Given the description of an element on the screen output the (x, y) to click on. 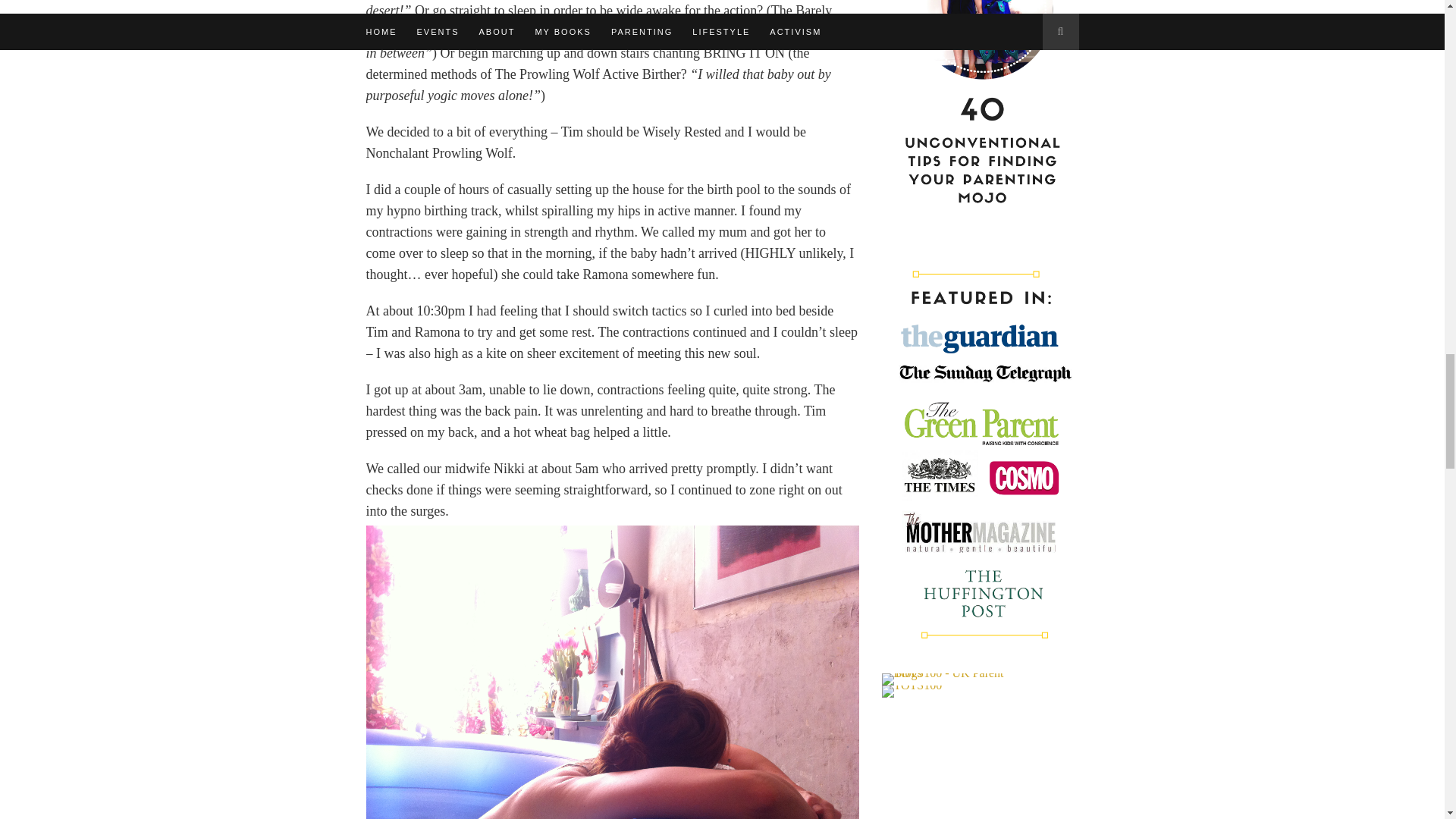
TOTS100 - UK Parent Blogs (943, 679)
TOTS 100 - UK Parent Blogs (943, 672)
TOTS100 (911, 684)
TOTS100 (911, 691)
